Given the description of an element on the screen output the (x, y) to click on. 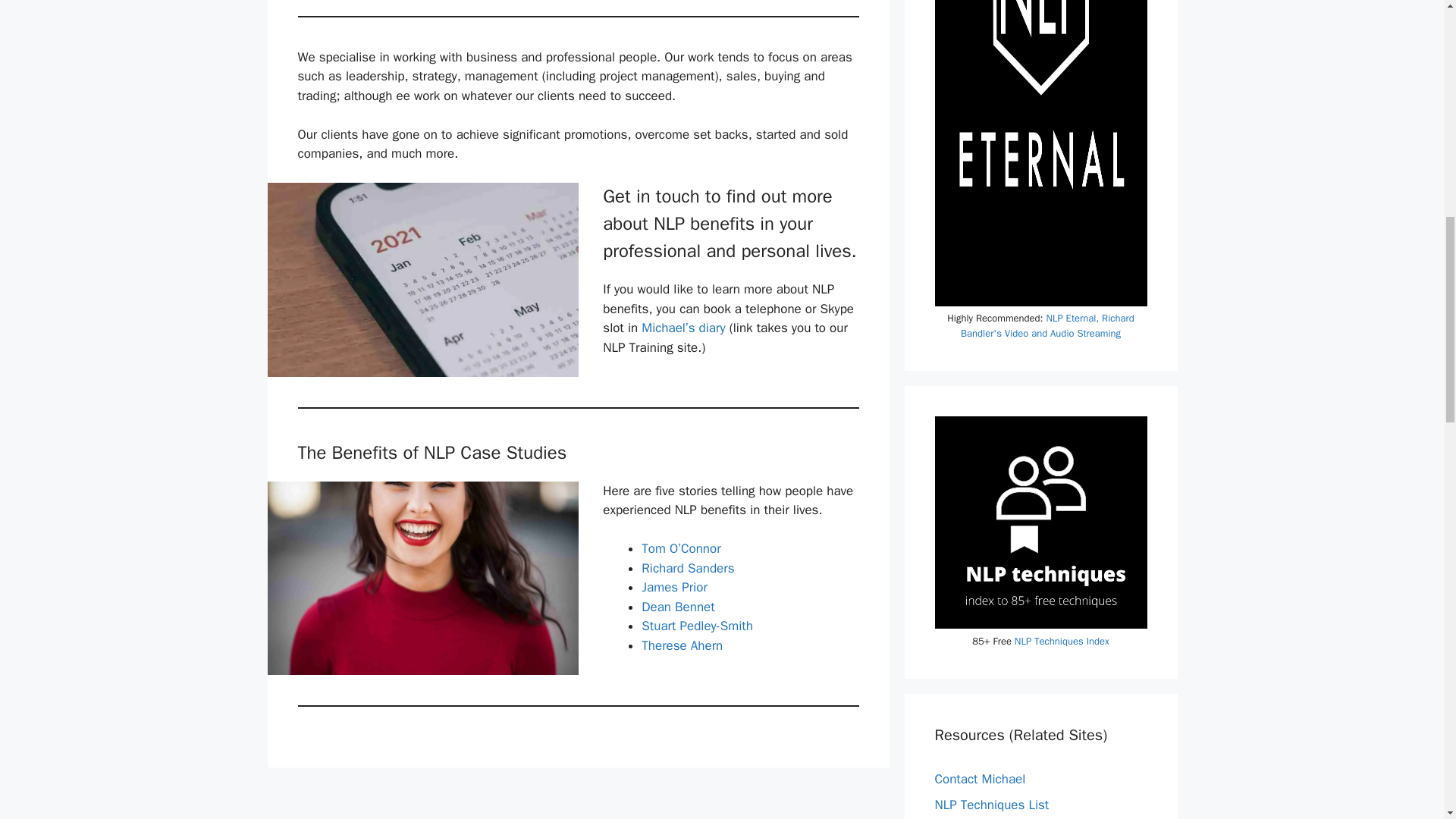
Contact Michael (979, 779)
NLP Techniques List (991, 804)
NLP Eternal, Richard Bandler's Video and Audio Streaming (1047, 325)
Dean Bennet (678, 606)
NLP Techniques Index (1061, 640)
Stuart Pedley-Smith (697, 625)
Therese Ahern (682, 645)
Richard Sanders (687, 568)
James Prior (674, 587)
